Given the description of an element on the screen output the (x, y) to click on. 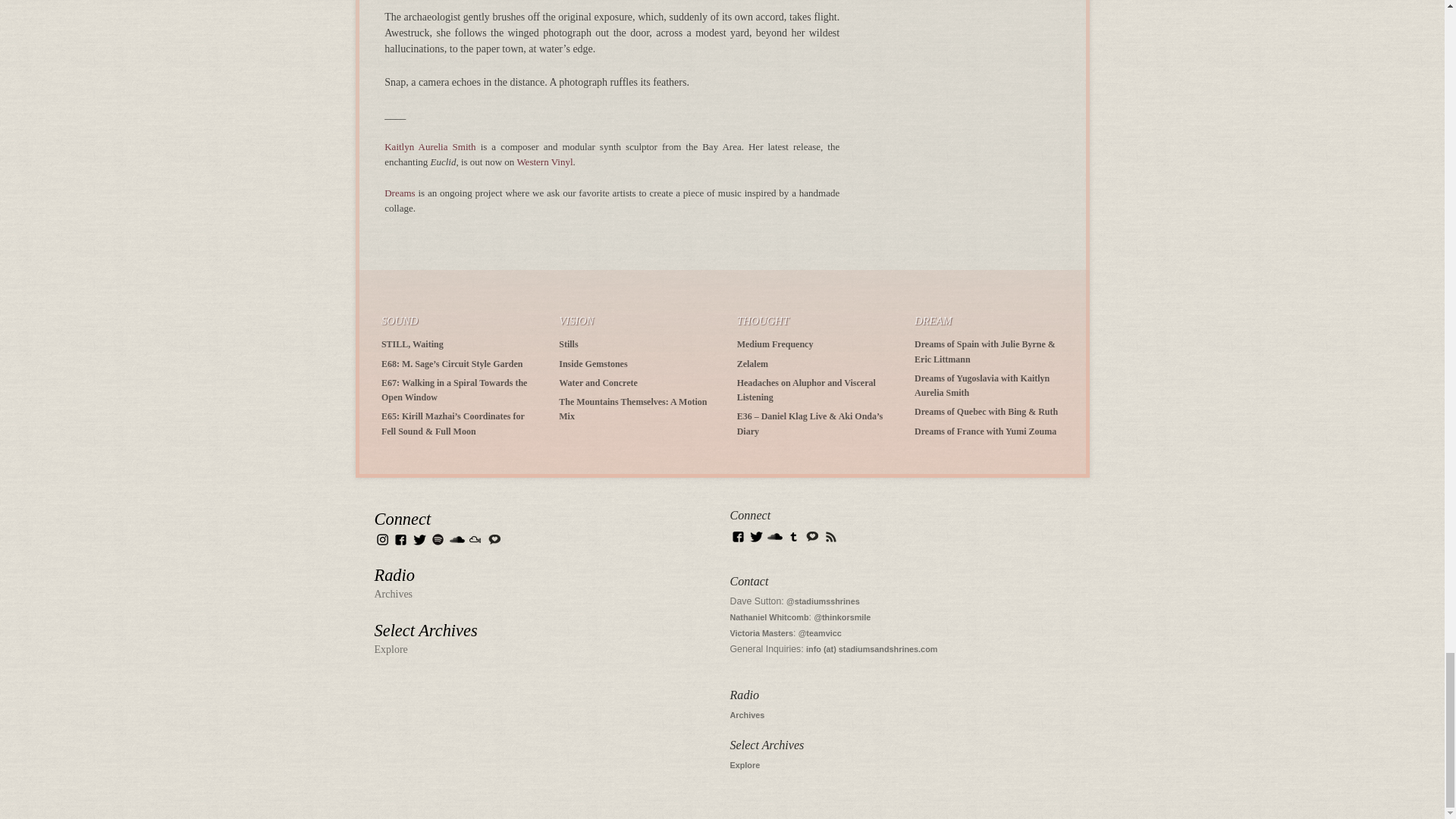
Permanent link to The Mountains Themselves: A Motion Mix (632, 408)
E67: Walking in a Spiral Towards the Open Window (454, 389)
STILL, Waiting (412, 344)
Permanent link to Medium Frequency (774, 344)
Dreams of Yugoslavia with Kaitlyn Aurelia Smith (981, 385)
Permanent link to Inside Gemstones (593, 362)
Headaches on Aluphor and Visceral Listening (806, 389)
Permanent link to Water and Concrete (598, 382)
Inside Gemstones (593, 362)
Stills (568, 344)
Permanent link to Zelalem (752, 362)
Water and Concrete (598, 382)
Permanent link to STILL, Waiting (412, 344)
Zelalem (752, 362)
